Given the description of an element on the screen output the (x, y) to click on. 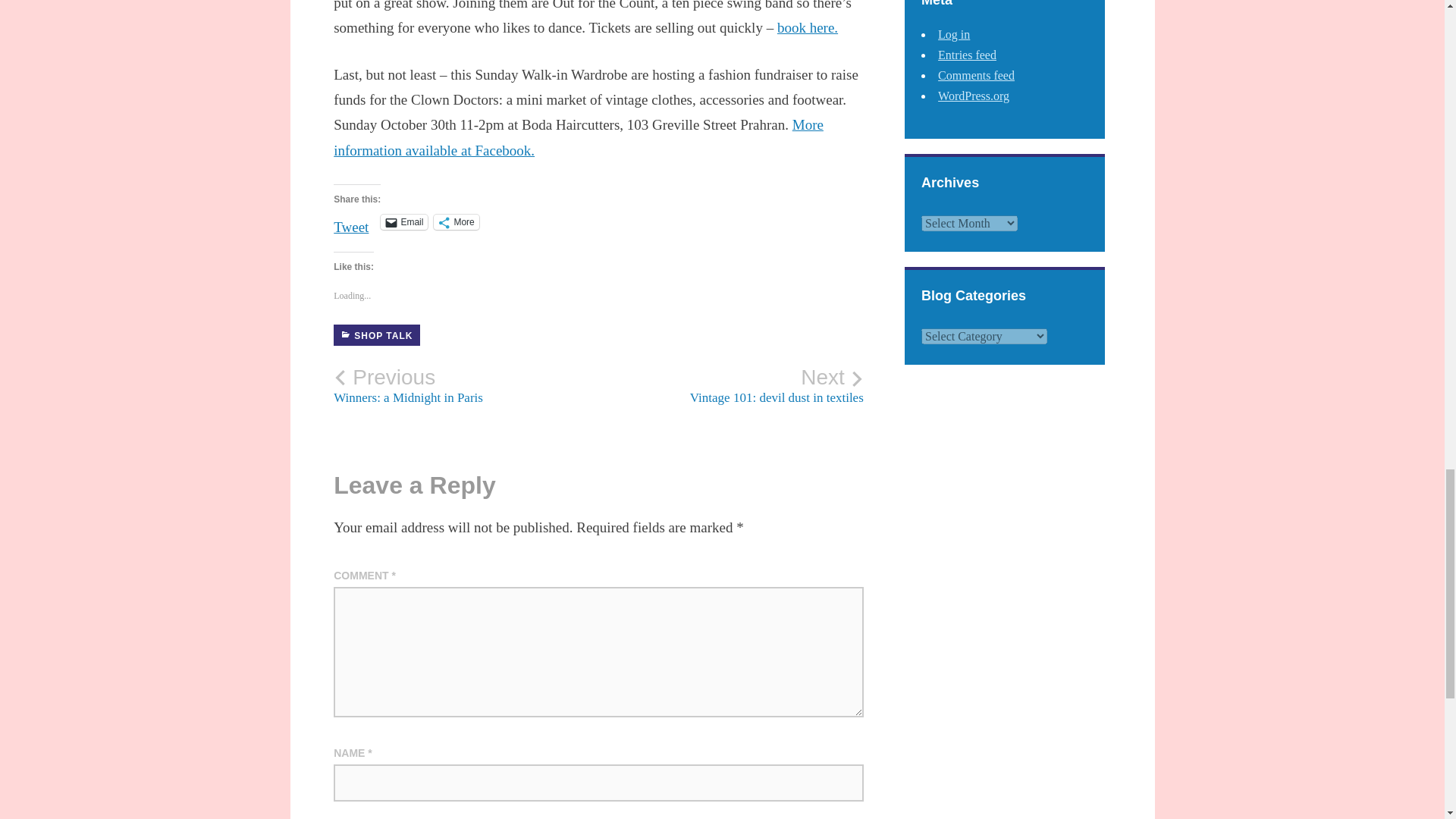
Click to email a link to a friend (404, 222)
More information available at Facebook. (578, 137)
book here. (807, 27)
